Given the description of an element on the screen output the (x, y) to click on. 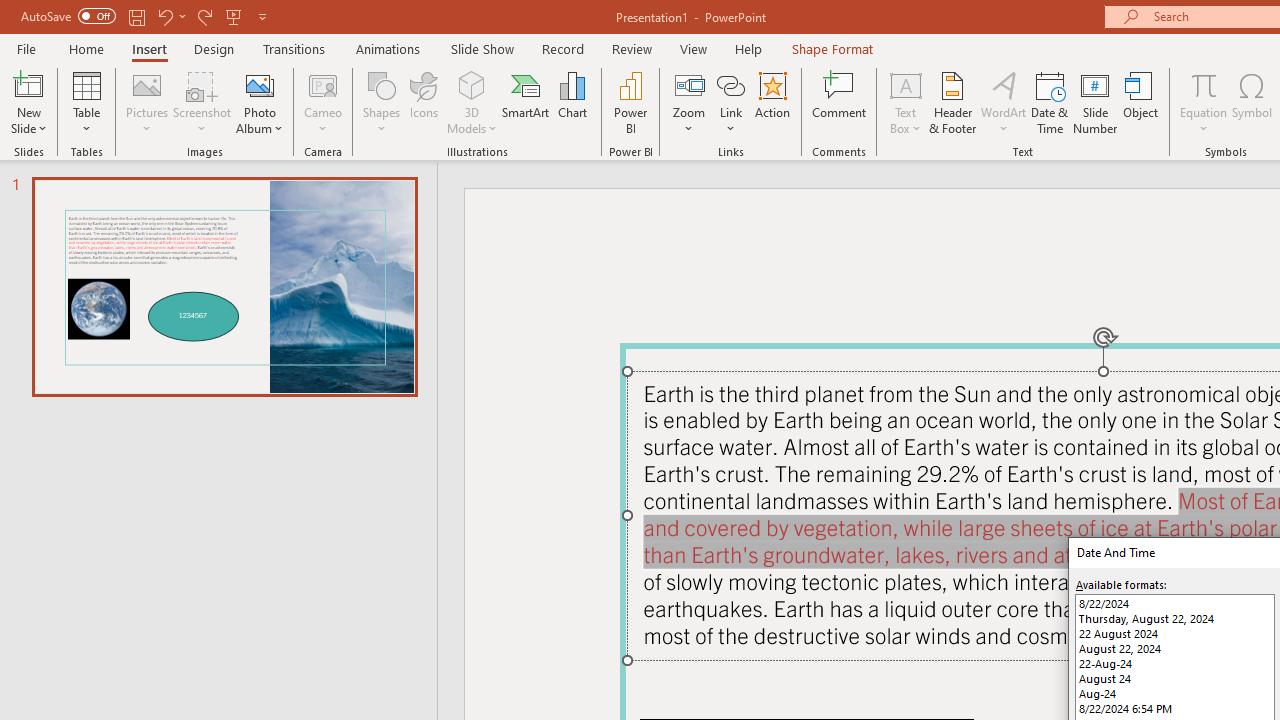
3D Models (472, 102)
New Slide (28, 102)
Shapes (381, 102)
